Given the description of an element on the screen output the (x, y) to click on. 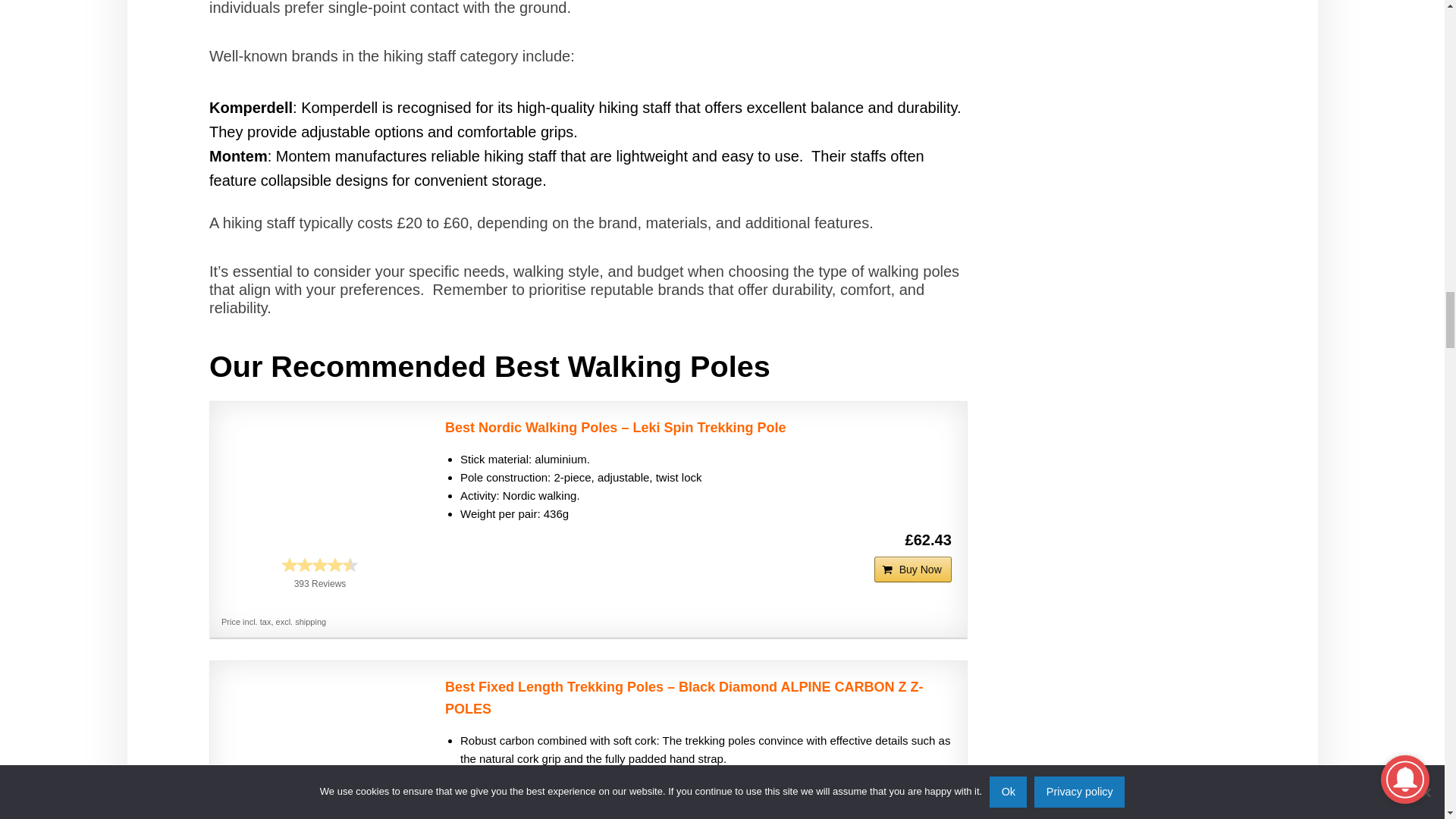
Best Nordic Walking Poles - Leki Spin Trekking Pole (319, 479)
Buy Now (913, 569)
Reviews on Amazon (320, 564)
Best Nordic Walking Poles - Leki Spin Trekking Pole (698, 427)
